Given the description of an element on the screen output the (x, y) to click on. 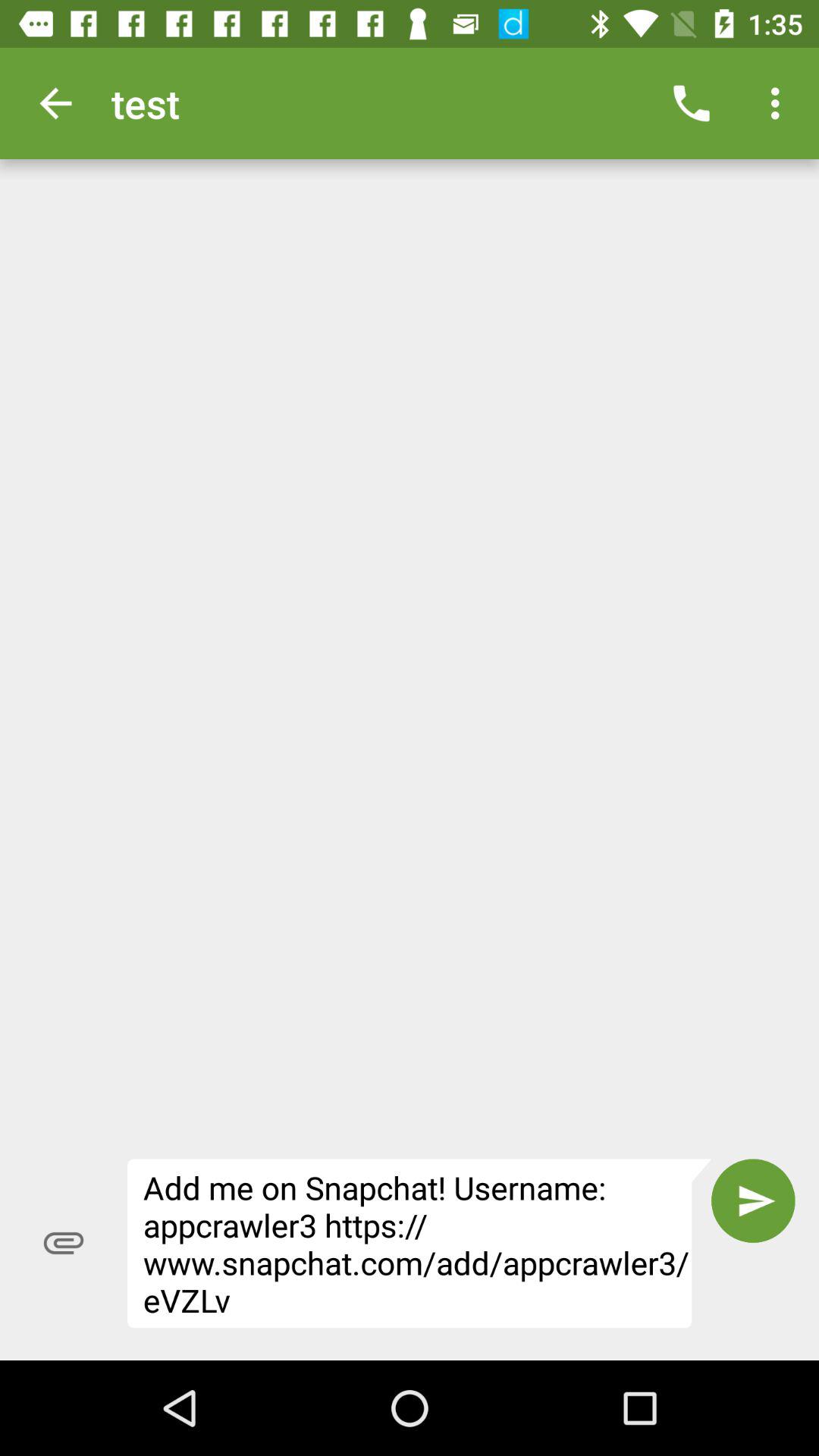
launch the item next to the test (55, 103)
